Given the description of an element on the screen output the (x, y) to click on. 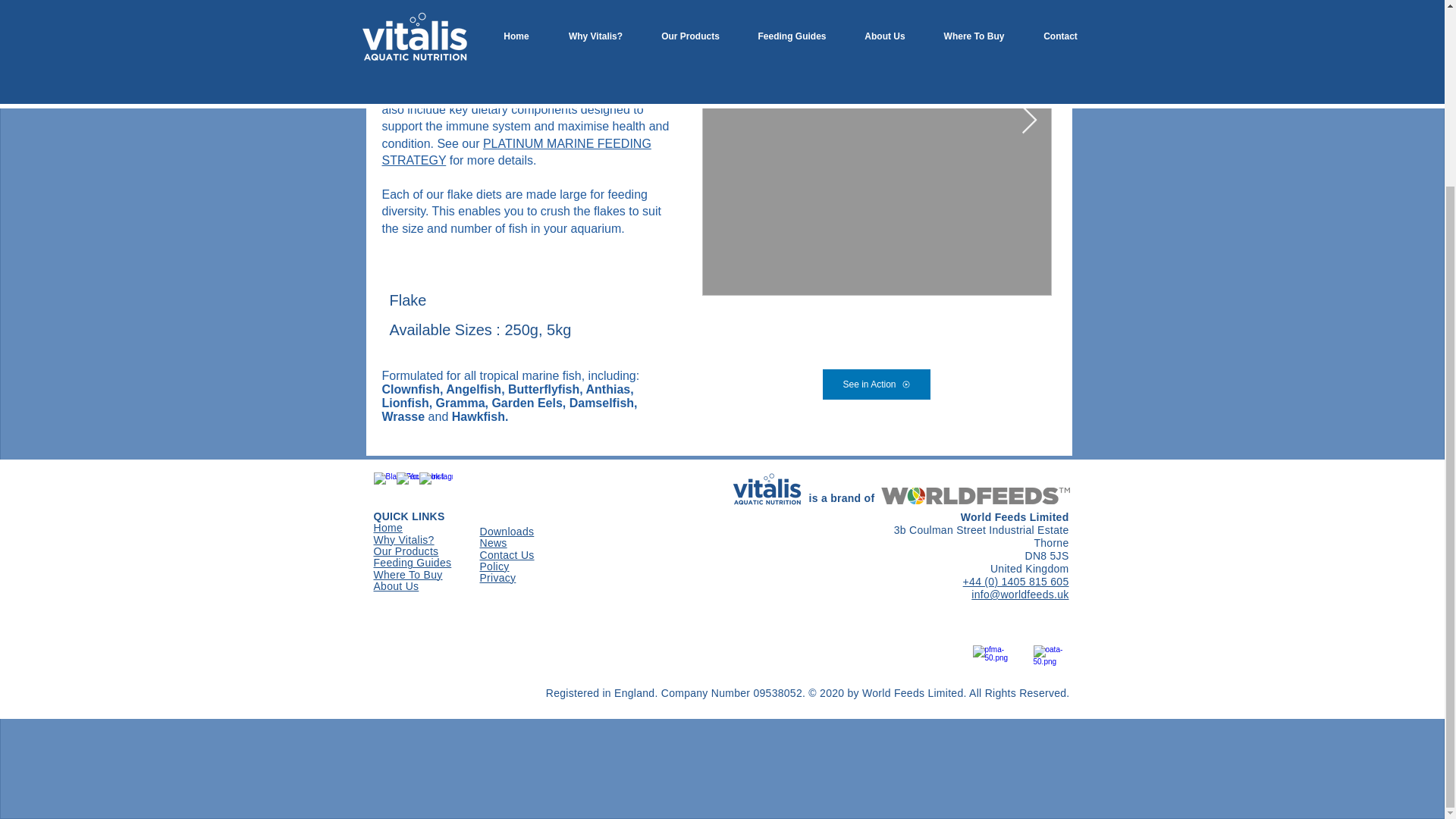
Contact Us (506, 555)
News (492, 542)
About Us (395, 586)
Our Products (405, 551)
Home (386, 528)
Where To Buy (407, 574)
Policy (493, 566)
Downloads (506, 532)
Why Vitalis? (402, 540)
Privacy (497, 578)
Feeding Guides (411, 563)
See in Action (876, 384)
PLATINUM MARINE FEEDING STRATEGY (515, 152)
